Given the description of an element on the screen output the (x, y) to click on. 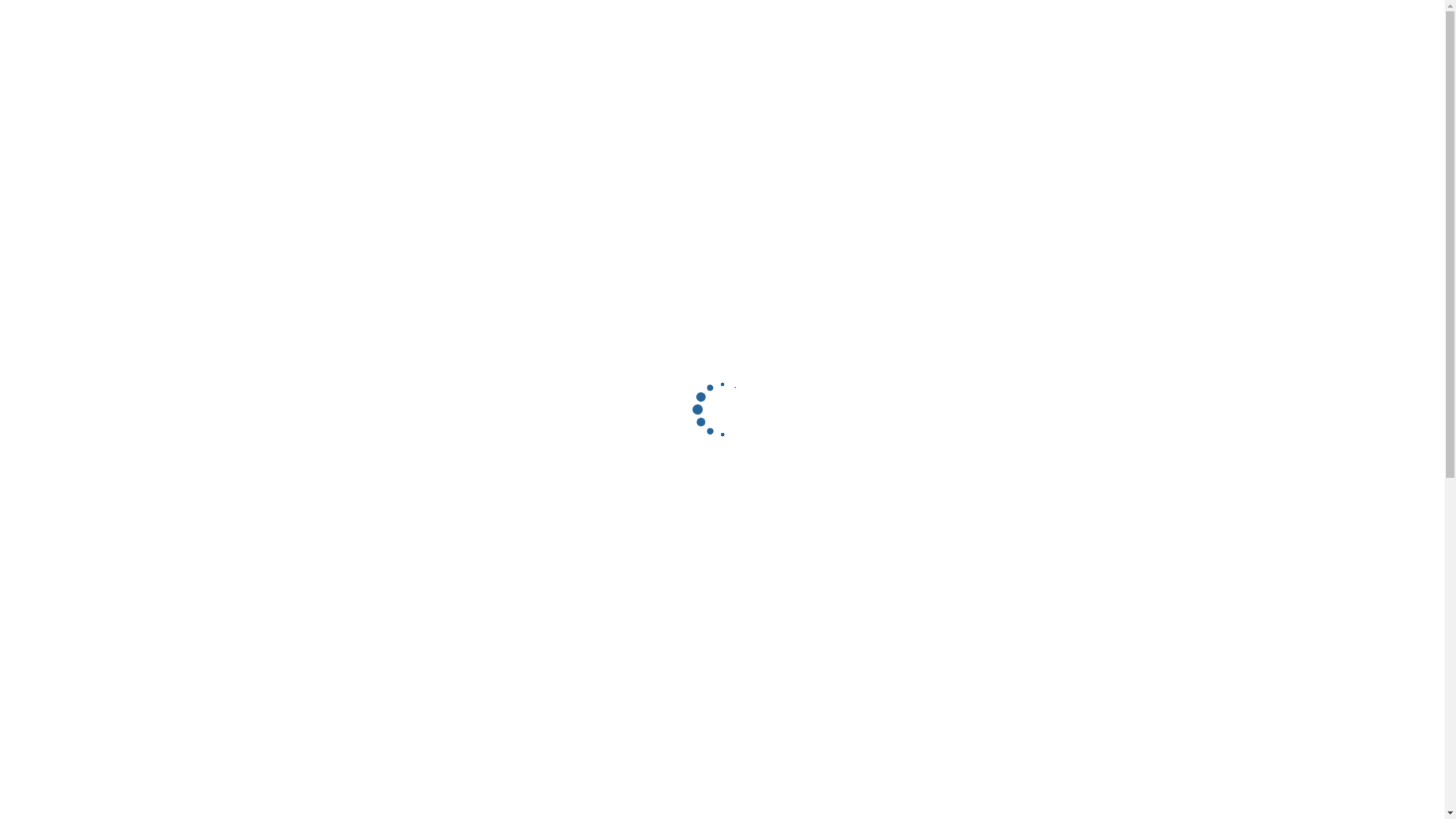
Get Directions Element type: text (342, 207)
Supermarkets Element type: text (722, 490)
Home Element type: text (984, 28)
Fresh Food & Dining Element type: text (722, 540)
Pamper Element type: text (722, 590)
Gallery Element type: text (1279, 28)
About the Centre Element type: text (425, 402)
Shop Directory Element type: text (1067, 28)
Events Element type: text (1152, 28)
Leasing Opportunities Element type: text (624, 402)
Opening Times Element type: text (542, 207)
Our Shops Element type: text (518, 402)
Call Us 9422 1888 Element type: text (658, 207)
  Lakes S/C Element type: text (29, 174)
Leasing Element type: text (1215, 28)
Services Element type: text (722, 639)
Centre Map Element type: text (441, 207)
